Given the description of an element on the screen output the (x, y) to click on. 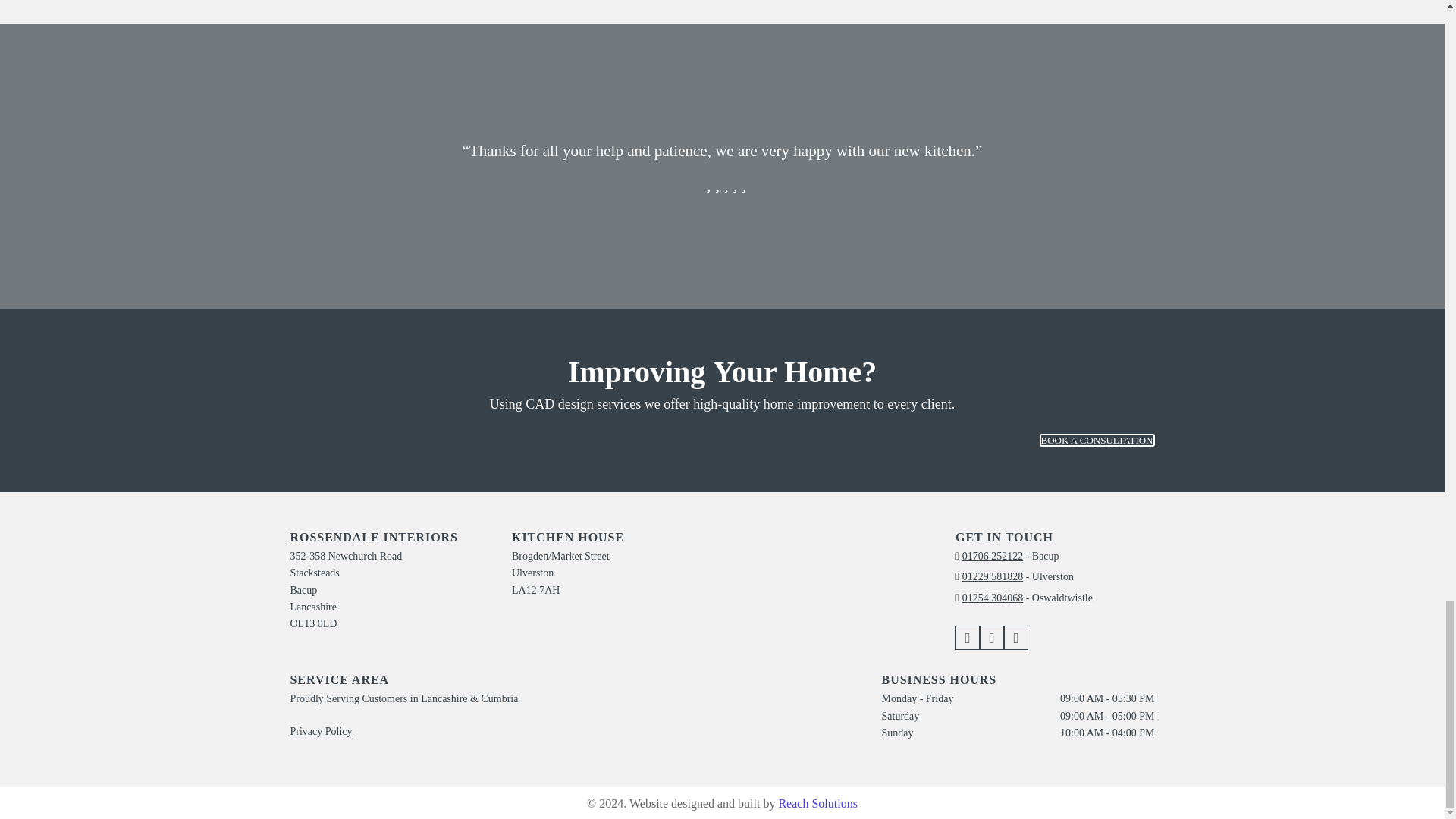
Privacy Policy (320, 731)
01254 304068 (992, 597)
01229 581828 (992, 576)
01706 252122 (992, 555)
Reach Solutions (817, 802)
BOOK A CONSULTATION (1096, 440)
